Given the description of an element on the screen output the (x, y) to click on. 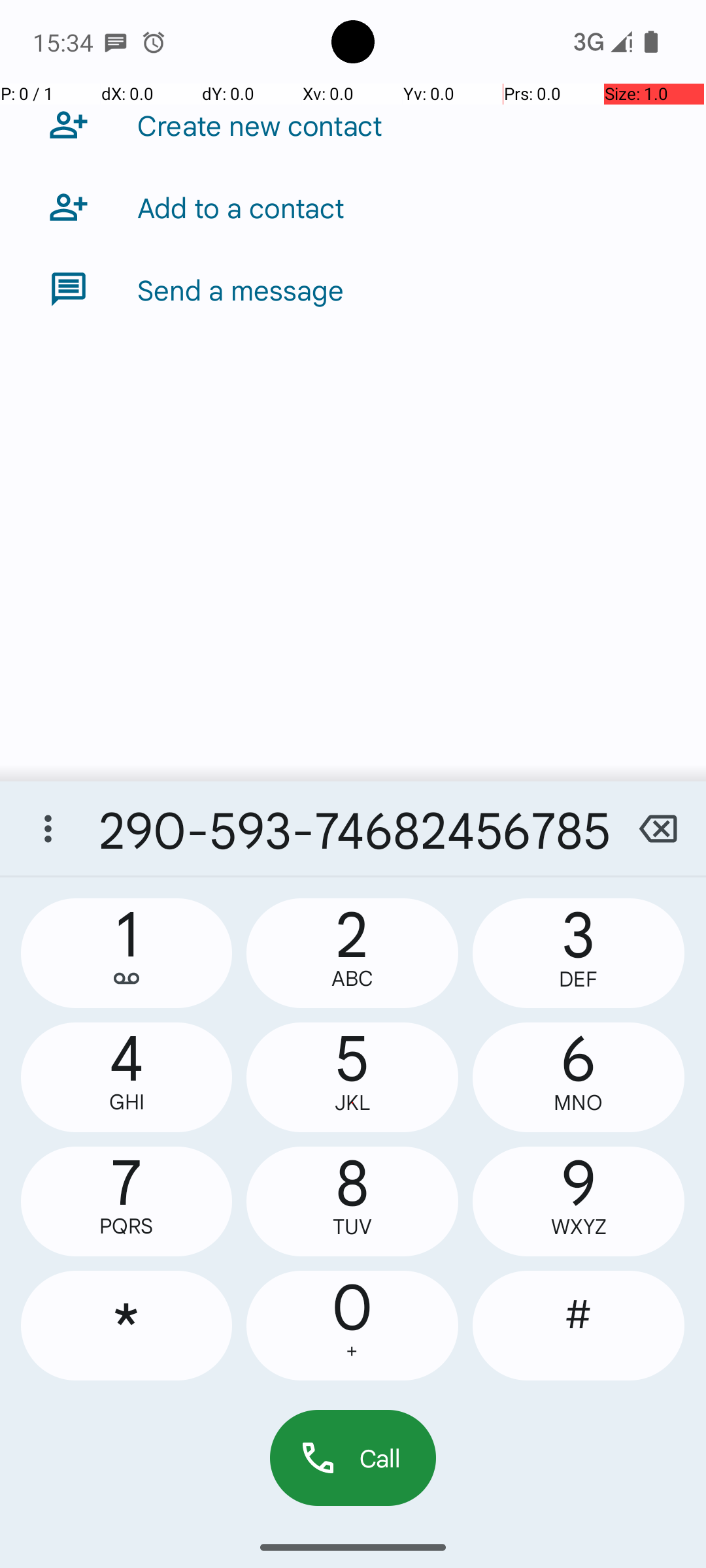
+1 290-593-74682456785 Element type: android.widget.EditText (352, 828)
